Given the description of an element on the screen output the (x, y) to click on. 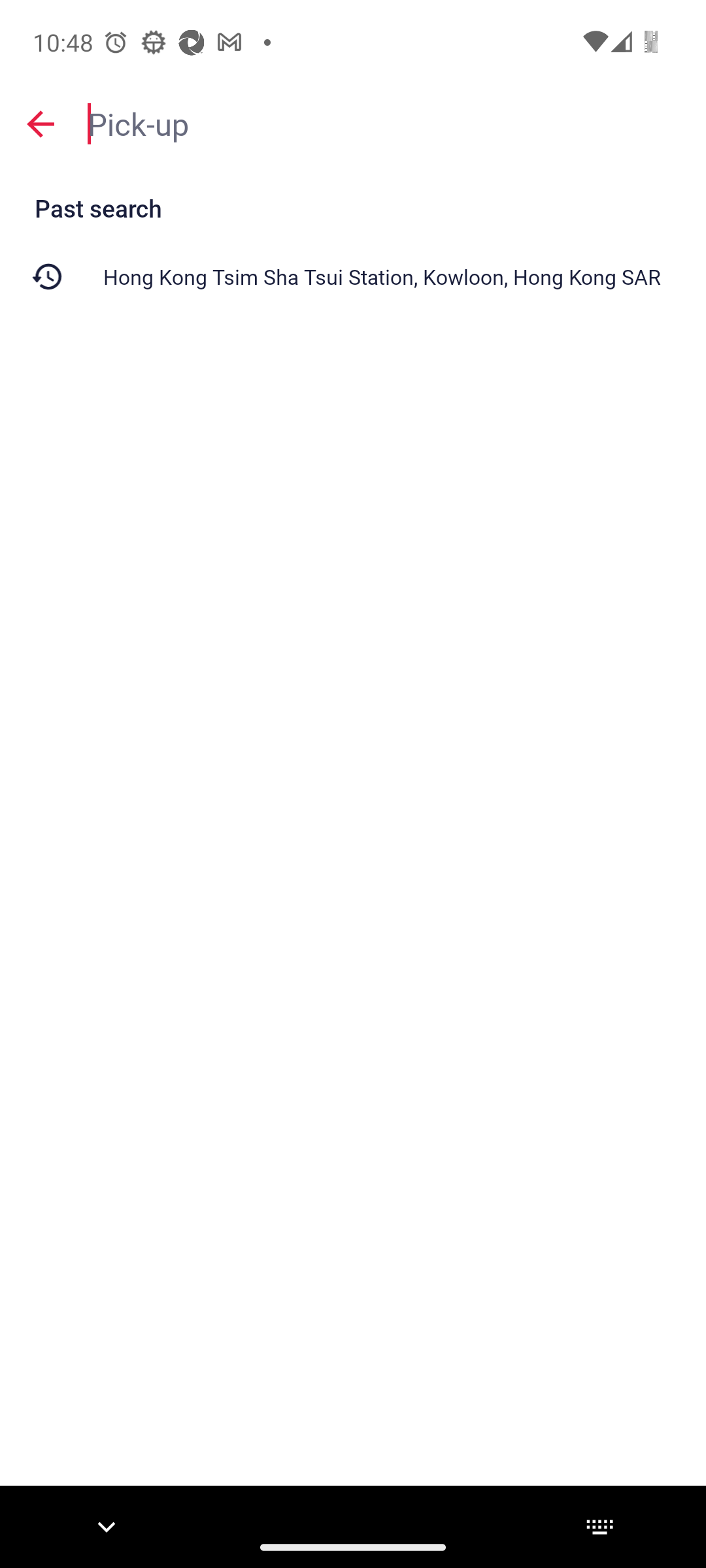
Close search screen (41, 124)
Pick-up,  (387, 123)
